Given the description of an element on the screen output the (x, y) to click on. 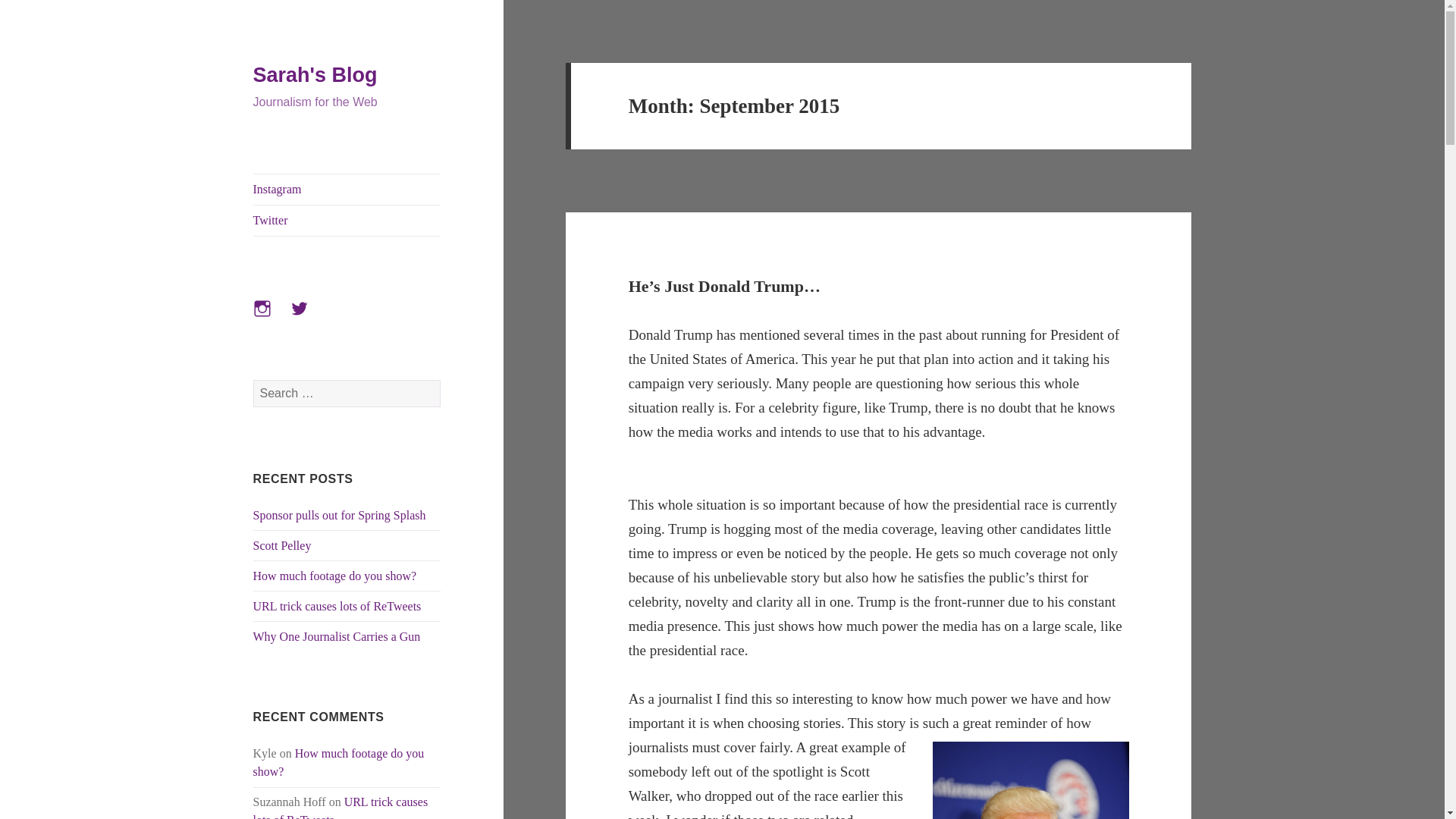
How much footage do you show? (334, 575)
How much footage do you show? (339, 762)
Twitter (347, 220)
Scott Pelley (282, 545)
Twitter (307, 317)
Sarah's Blog (315, 74)
Instagram (271, 317)
Instagram (347, 189)
Sponsor pulls out for Spring Splash (339, 514)
URL trick causes lots of ReTweets (337, 605)
Why One Journalist Carries a Gun (336, 635)
URL trick causes lots of ReTweets (340, 807)
